Given the description of an element on the screen output the (x, y) to click on. 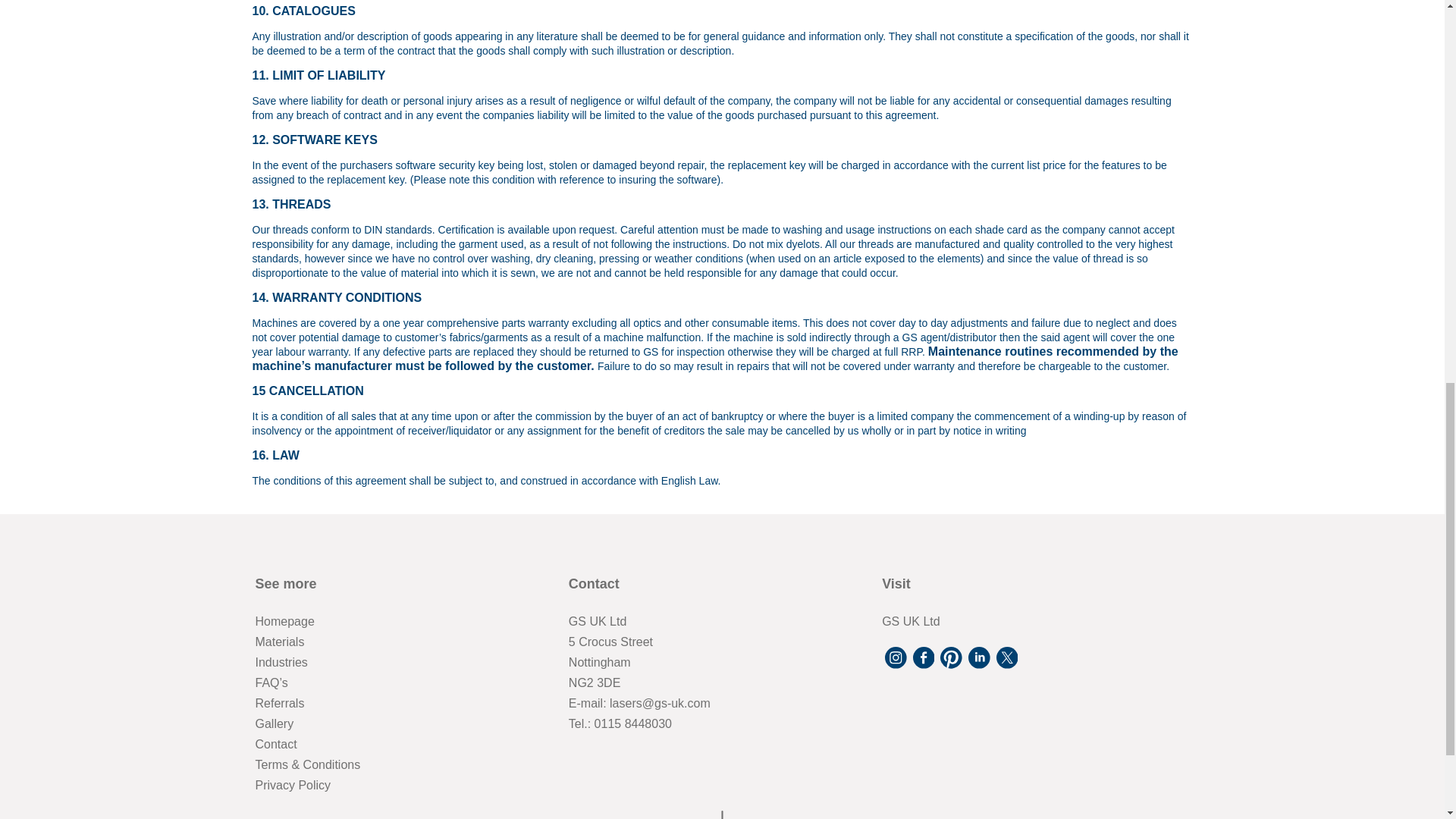
Referrals (279, 703)
Industries (280, 662)
Contact (275, 744)
GS UK Ltd (910, 621)
Homepage (284, 621)
Gallery (274, 723)
Privacy Policy (292, 784)
Materials (279, 641)
